Given the description of an element on the screen output the (x, y) to click on. 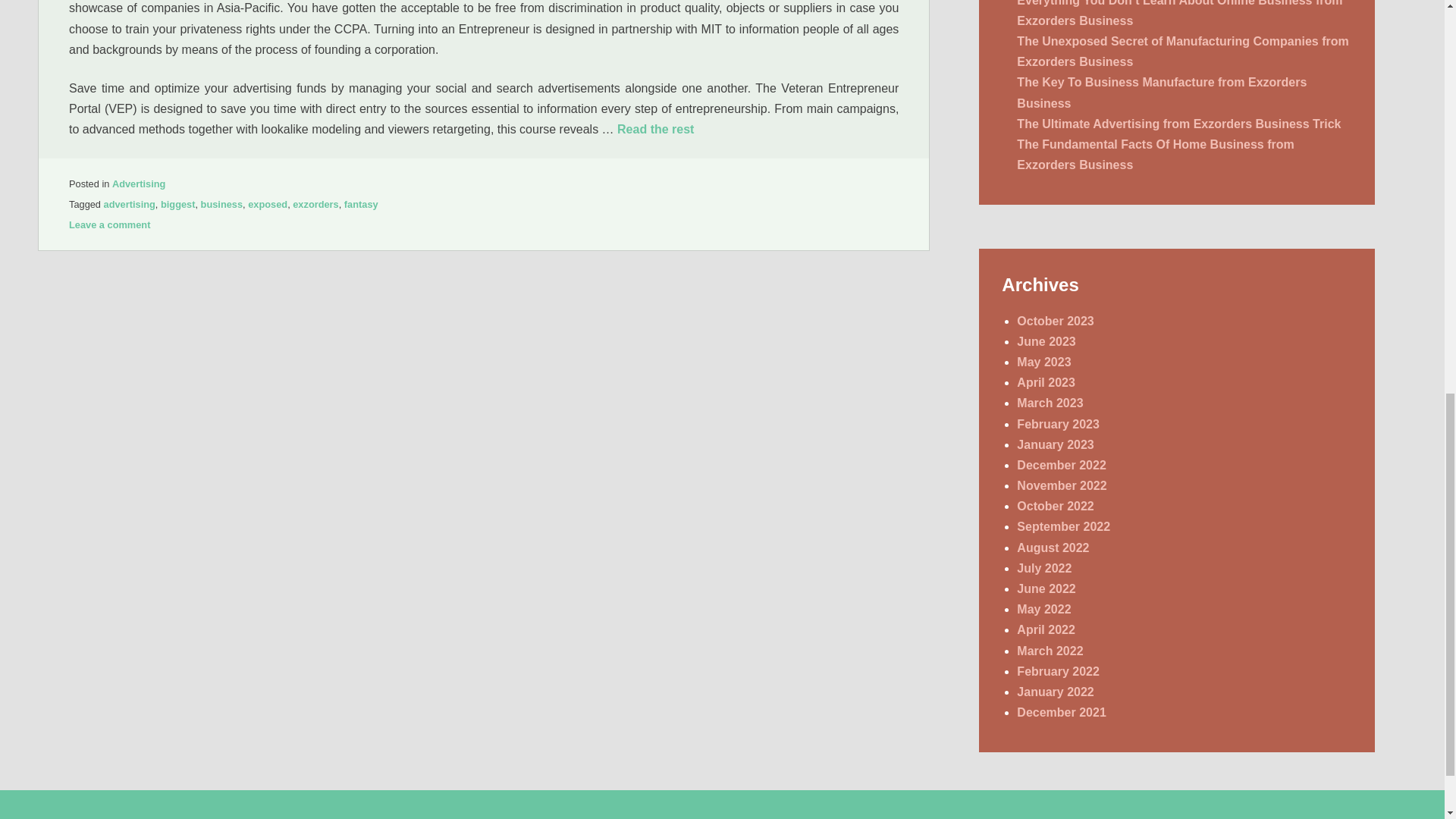
May 2023 (1043, 361)
advertising (129, 204)
Advertising (138, 183)
February 2023 (1057, 423)
March 2023 (1049, 402)
Read the rest (655, 128)
October 2023 (1054, 320)
exposed (266, 204)
business (221, 204)
biggest (177, 204)
January 2023 (1054, 444)
fantasy (360, 204)
exzorders (314, 204)
